Given the description of an element on the screen output the (x, y) to click on. 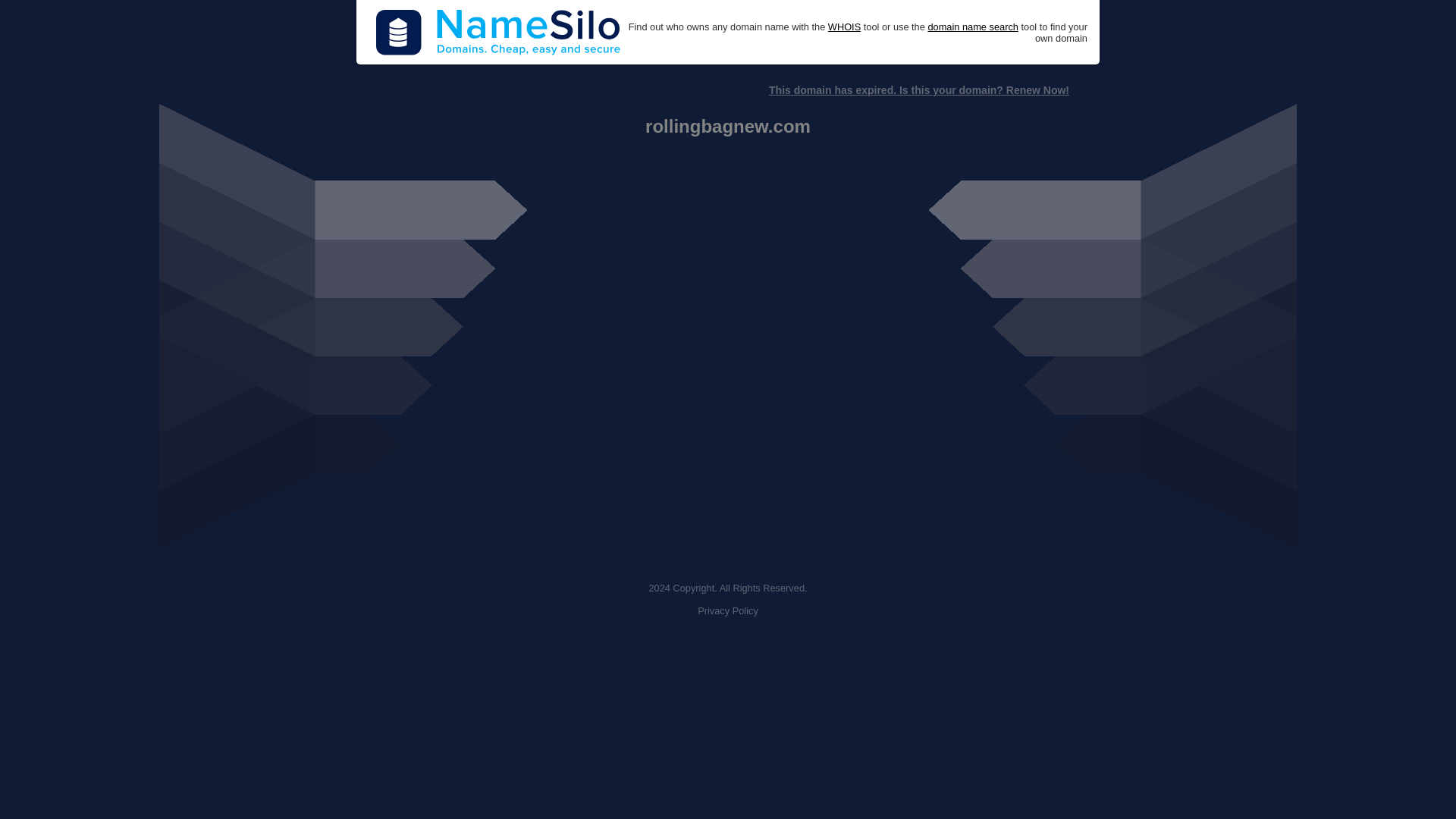
WHOIS (844, 26)
domain name search (972, 26)
This domain has expired. Is this your domain? Renew Now! (918, 90)
Privacy Policy (727, 610)
